Given the description of an element on the screen output the (x, y) to click on. 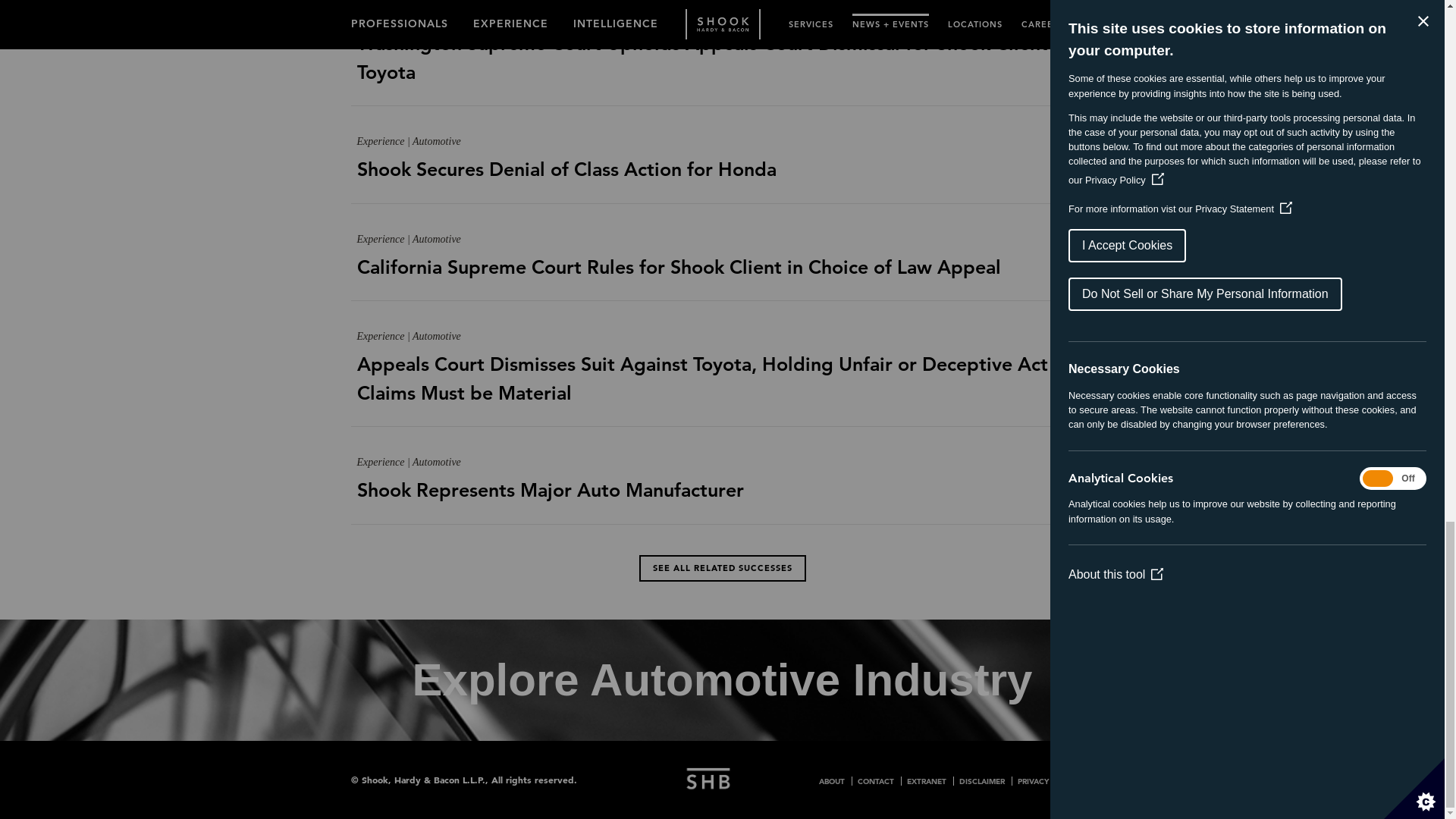
Shook Secures Denial of Class Action for Honda (721, 183)
